Given the description of an element on the screen output the (x, y) to click on. 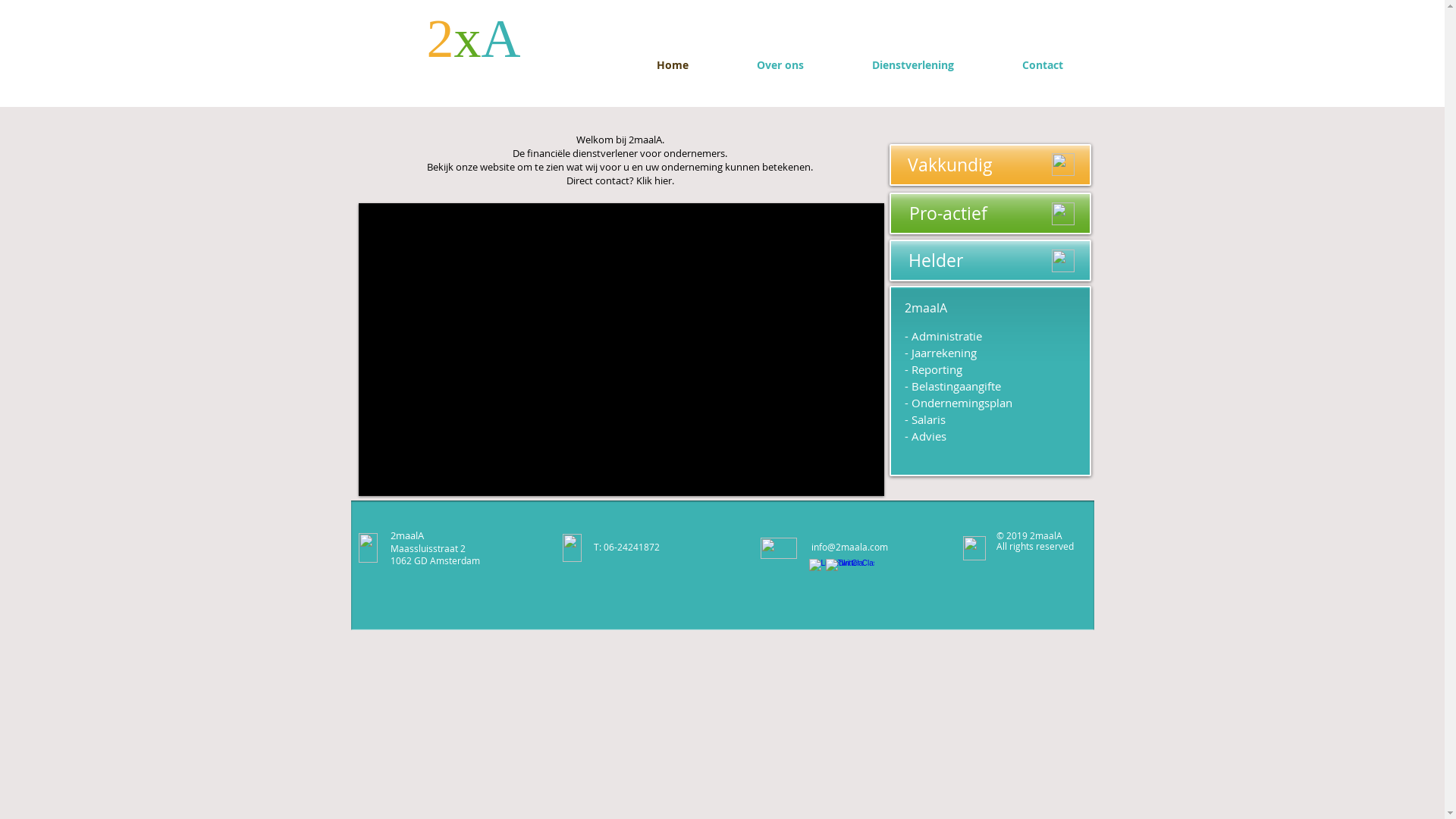
Dienstverlening Element type: text (912, 64)
Over ons Element type: text (779, 64)
hier Element type: text (662, 180)
Contact Element type: text (1041, 64)
Pro-actief Element type: text (989, 213)
Helder Element type: text (989, 260)
Home Element type: text (671, 64)
Vakkundig Element type: text (989, 164)
info@2maala.com Element type: text (849, 546)
